Given the description of an element on the screen output the (x, y) to click on. 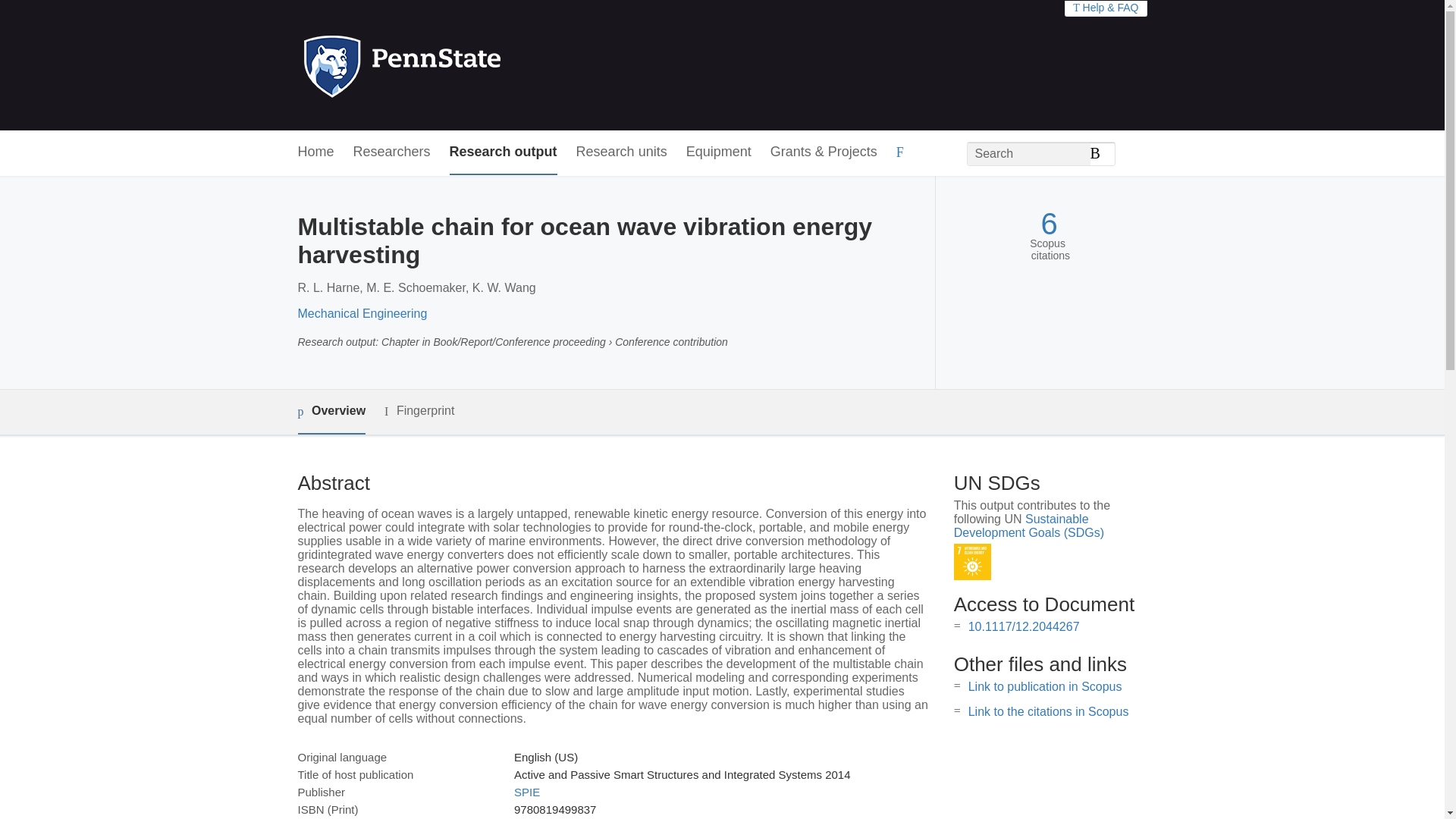
Equipment (718, 152)
Overview (331, 411)
Fingerprint (419, 411)
Link to publication in Scopus (1045, 686)
SPIE (526, 791)
Penn State Home (467, 65)
Research units (621, 152)
Mechanical Engineering (361, 313)
Link to the citations in Scopus (1048, 711)
